Given the description of an element on the screen output the (x, y) to click on. 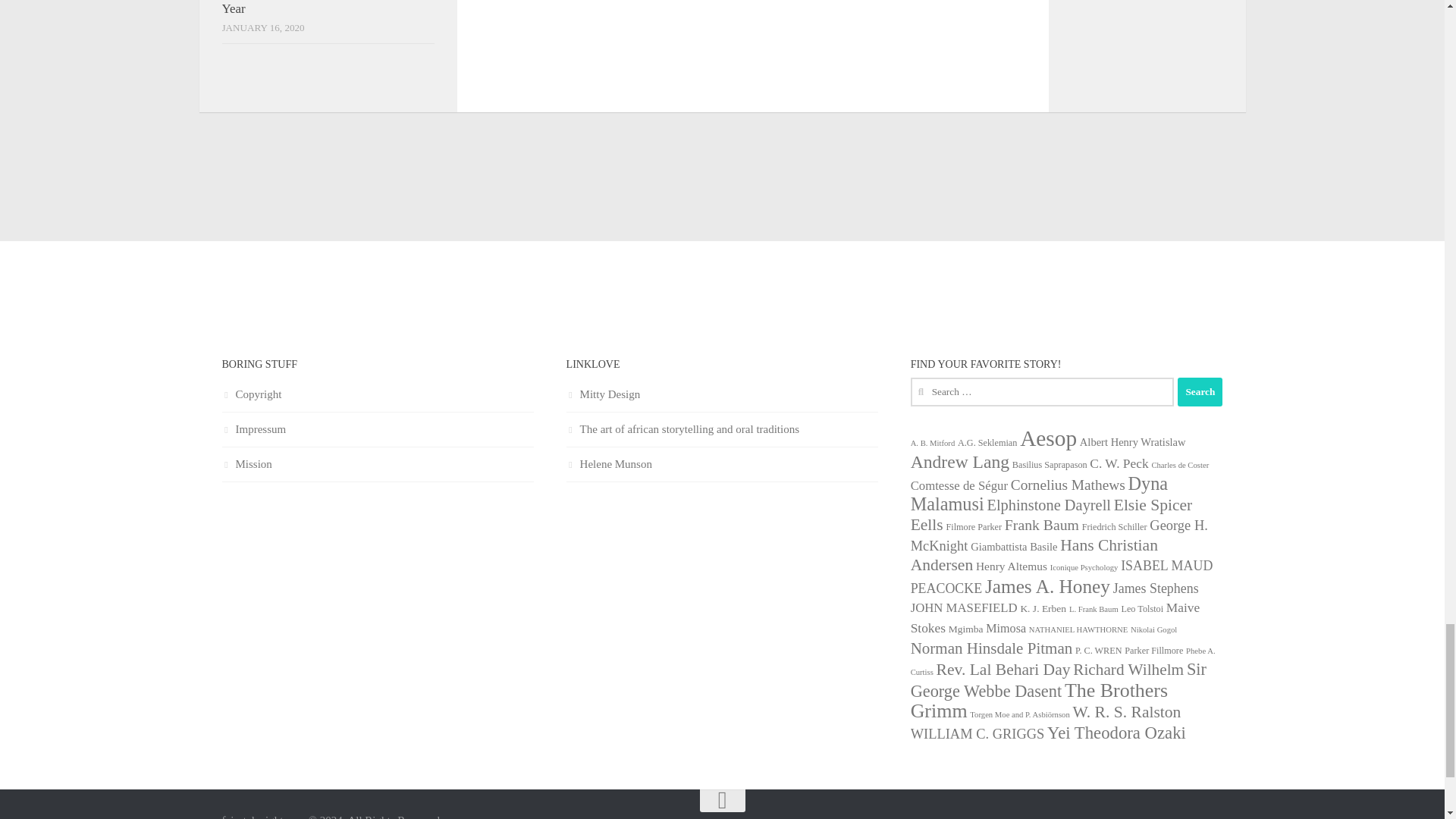
Search (1200, 391)
Search (1200, 391)
